Given the description of an element on the screen output the (x, y) to click on. 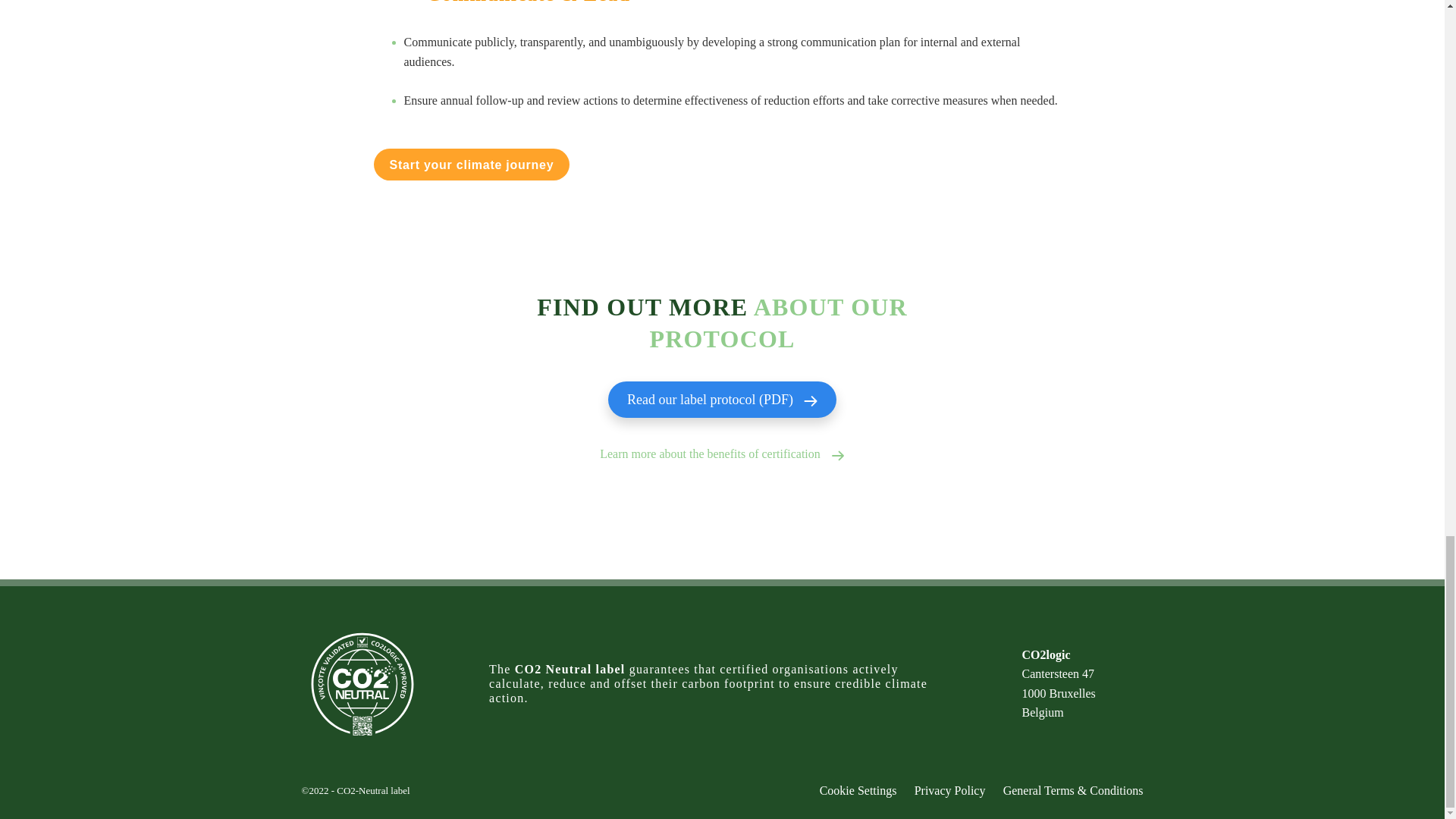
Cookie Settings (857, 790)
Start your climate journey (472, 164)
Learn more about the benefits of certification (721, 453)
Privacy Policy (942, 789)
